Given the description of an element on the screen output the (x, y) to click on. 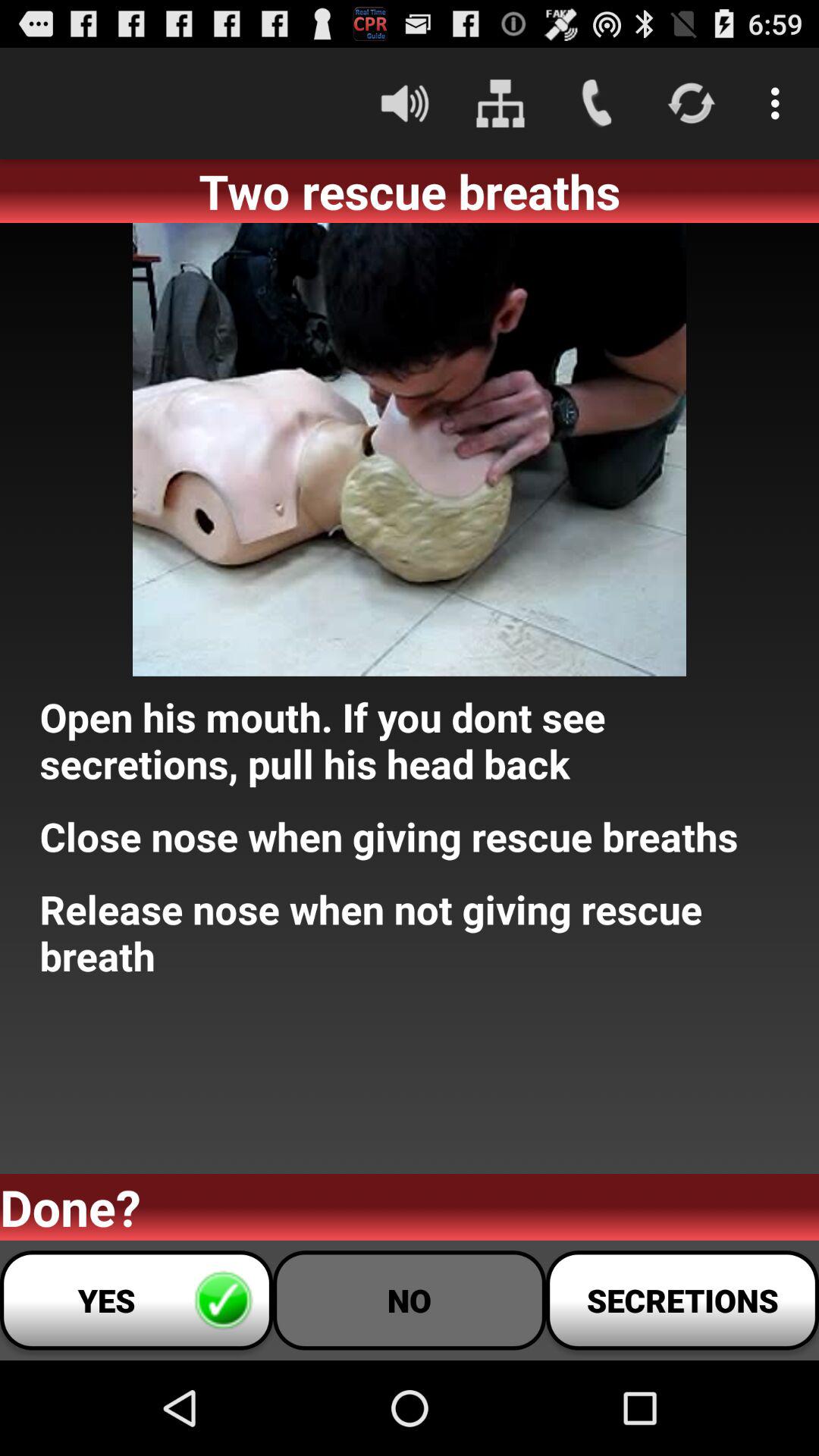
turn off the no (409, 1300)
